Given the description of an element on the screen output the (x, y) to click on. 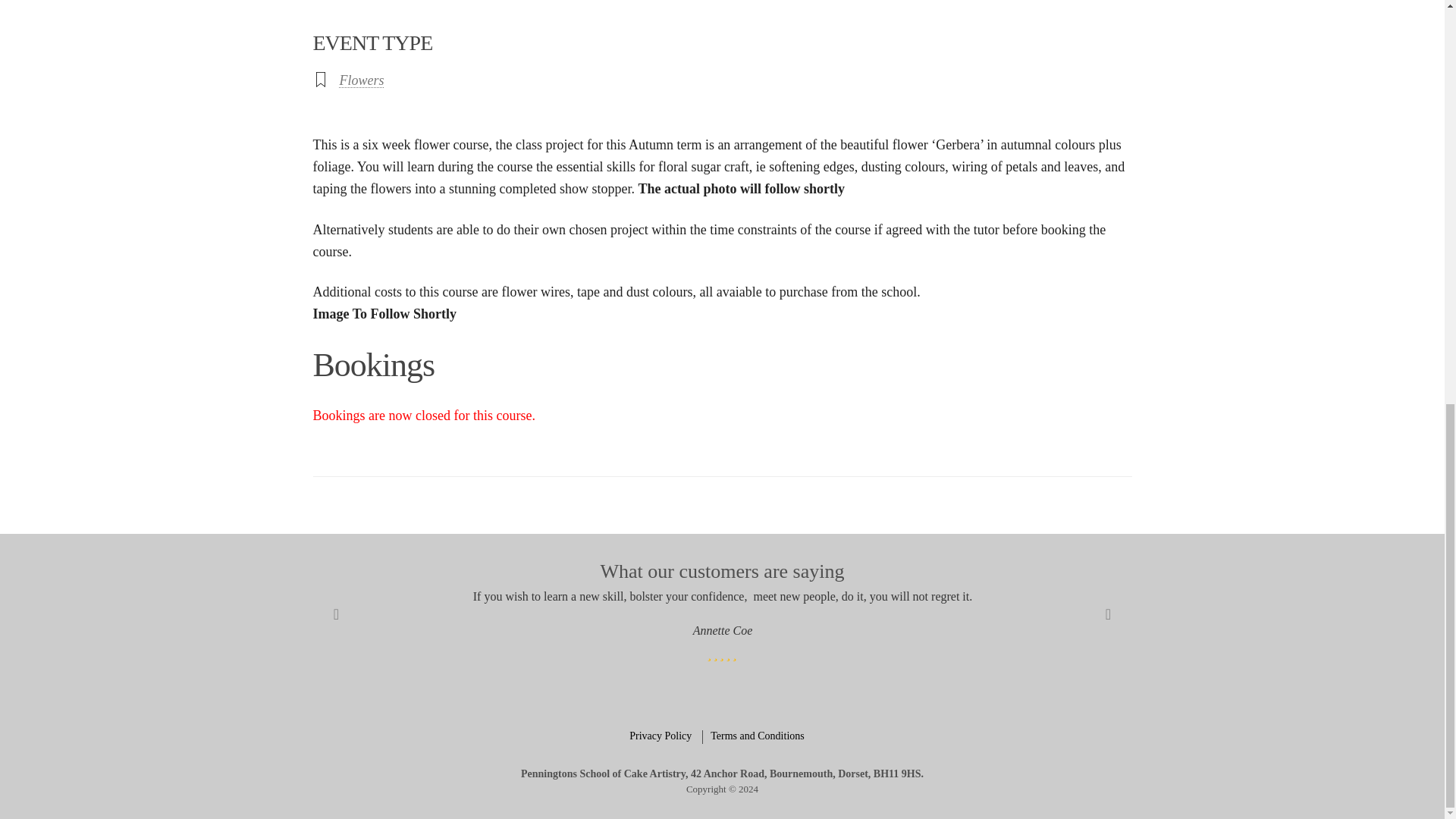
Flowers (361, 79)
Privacy Policy (665, 736)
Terms and Conditions (761, 736)
